Given the description of an element on the screen output the (x, y) to click on. 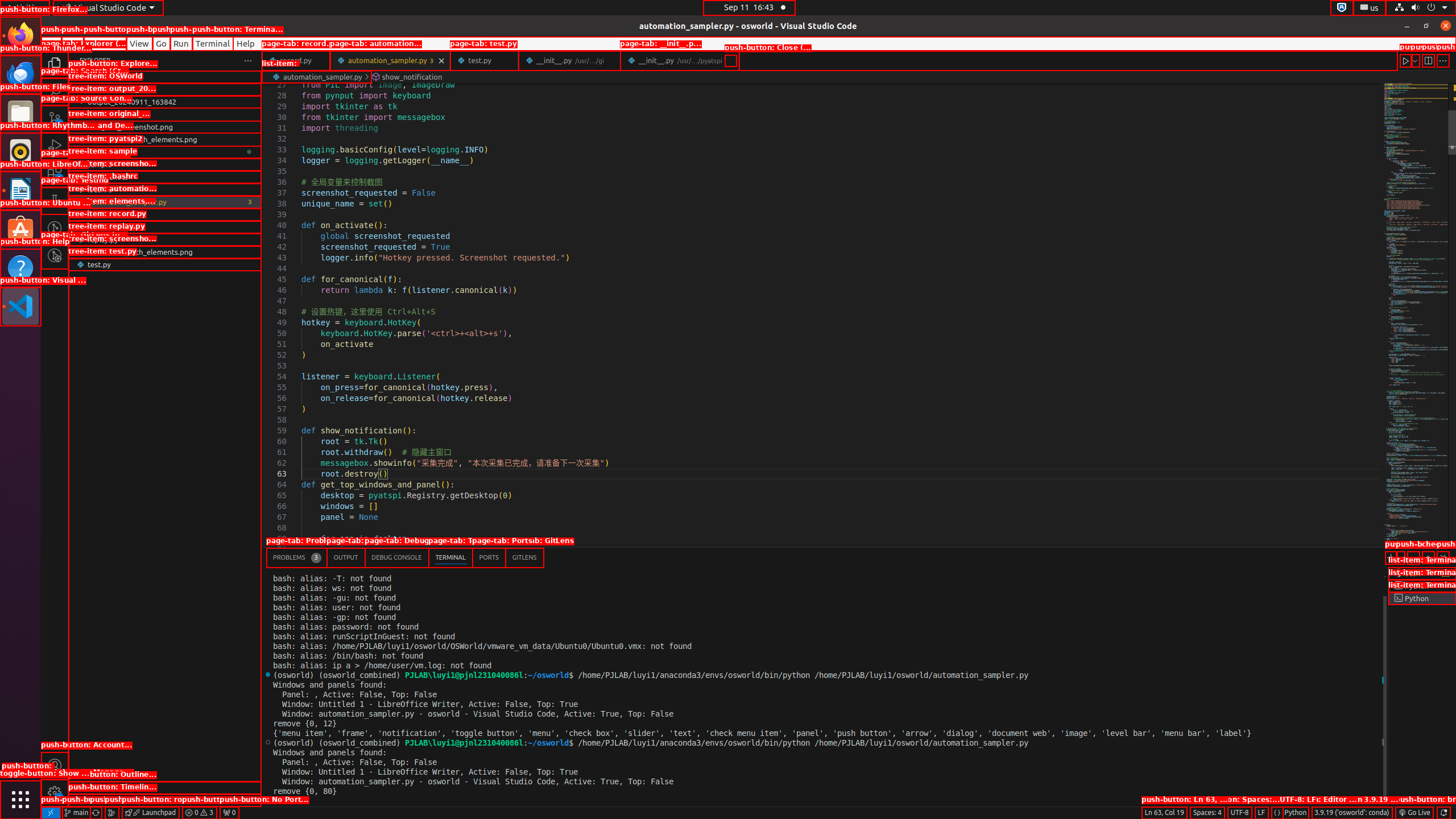
screenshot_with_elements.png Element type: tree-item (164, 251)
Split Editor Right (Ctrl+\) [Alt] Split Editor Down Element type: push-button (1427, 60)
Terminal Element type: push-button (212, 43)
UTF-8 Element type: push-button (1239, 812)
Terminal 5 Python Element type: list-item (1422, 598)
